Given the description of an element on the screen output the (x, y) to click on. 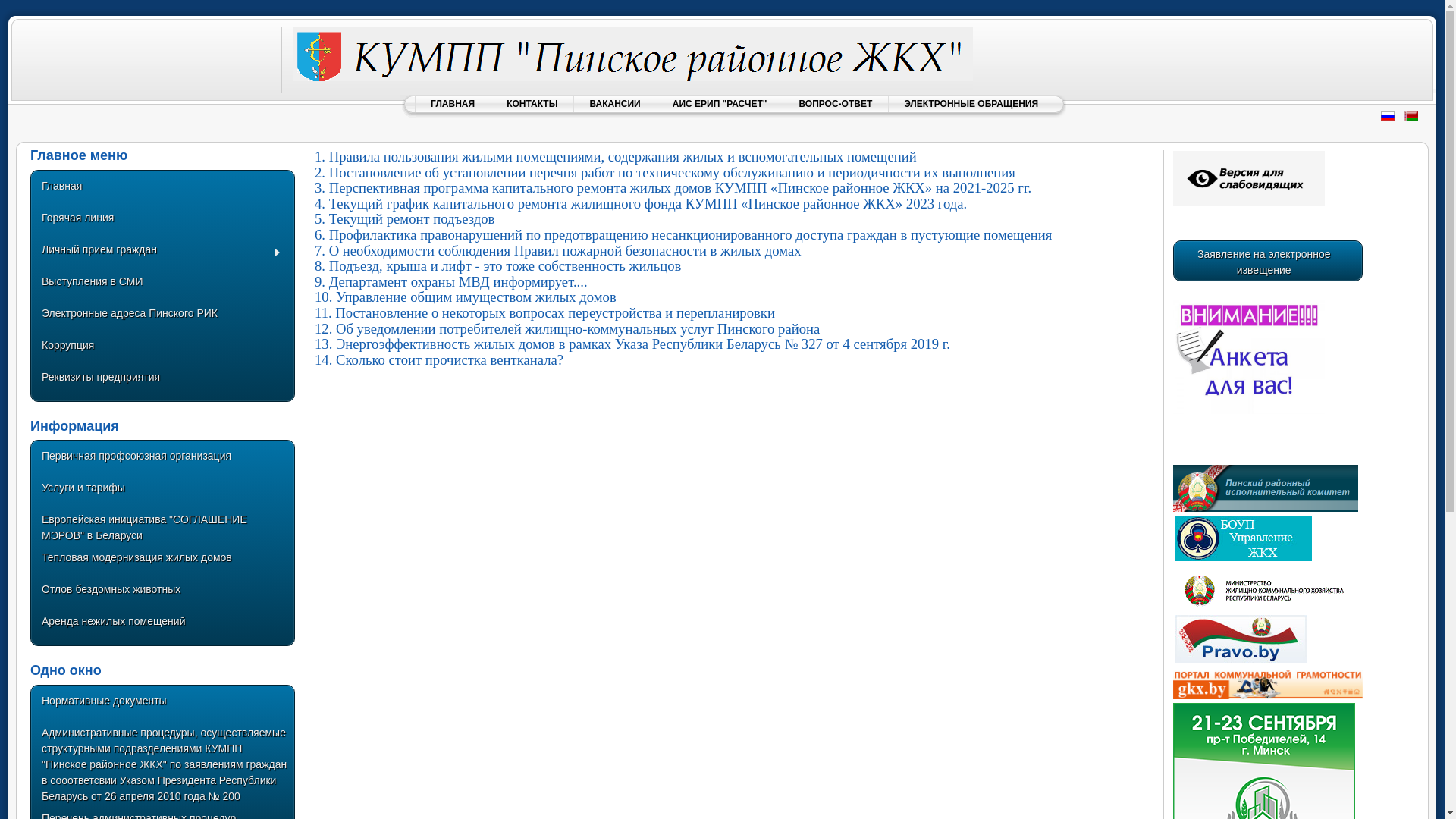
Russian (Russia) Element type: hover (1387, 115)
  Element type: text (1239, 659)
  Element type: text (1242, 557)
